Given the description of an element on the screen output the (x, y) to click on. 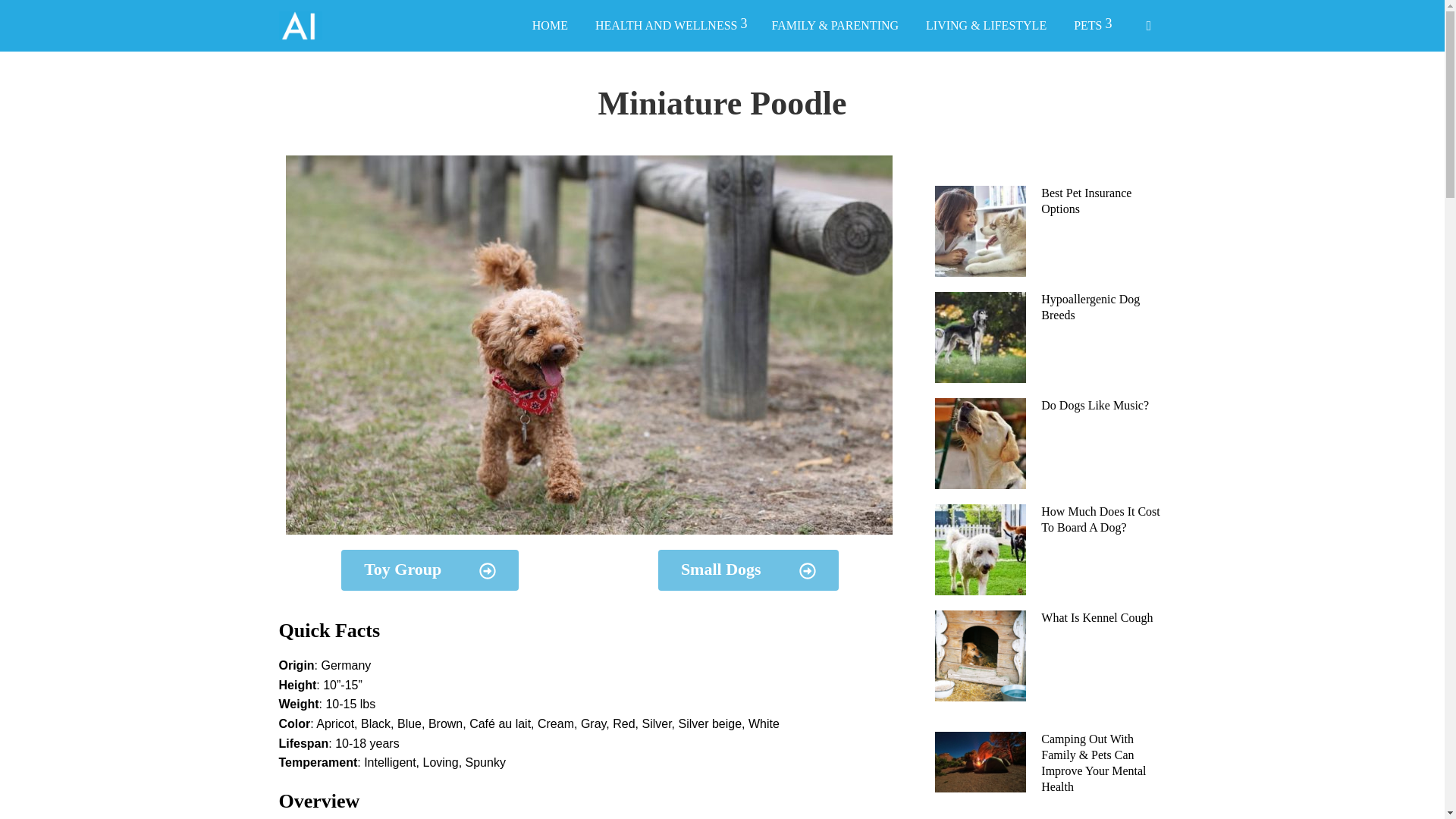
Small Dogs (748, 569)
Toy Group (429, 569)
HOME (550, 25)
PETS (1090, 25)
HEALTH AND WELLNESS (669, 25)
